Given the description of an element on the screen output the (x, y) to click on. 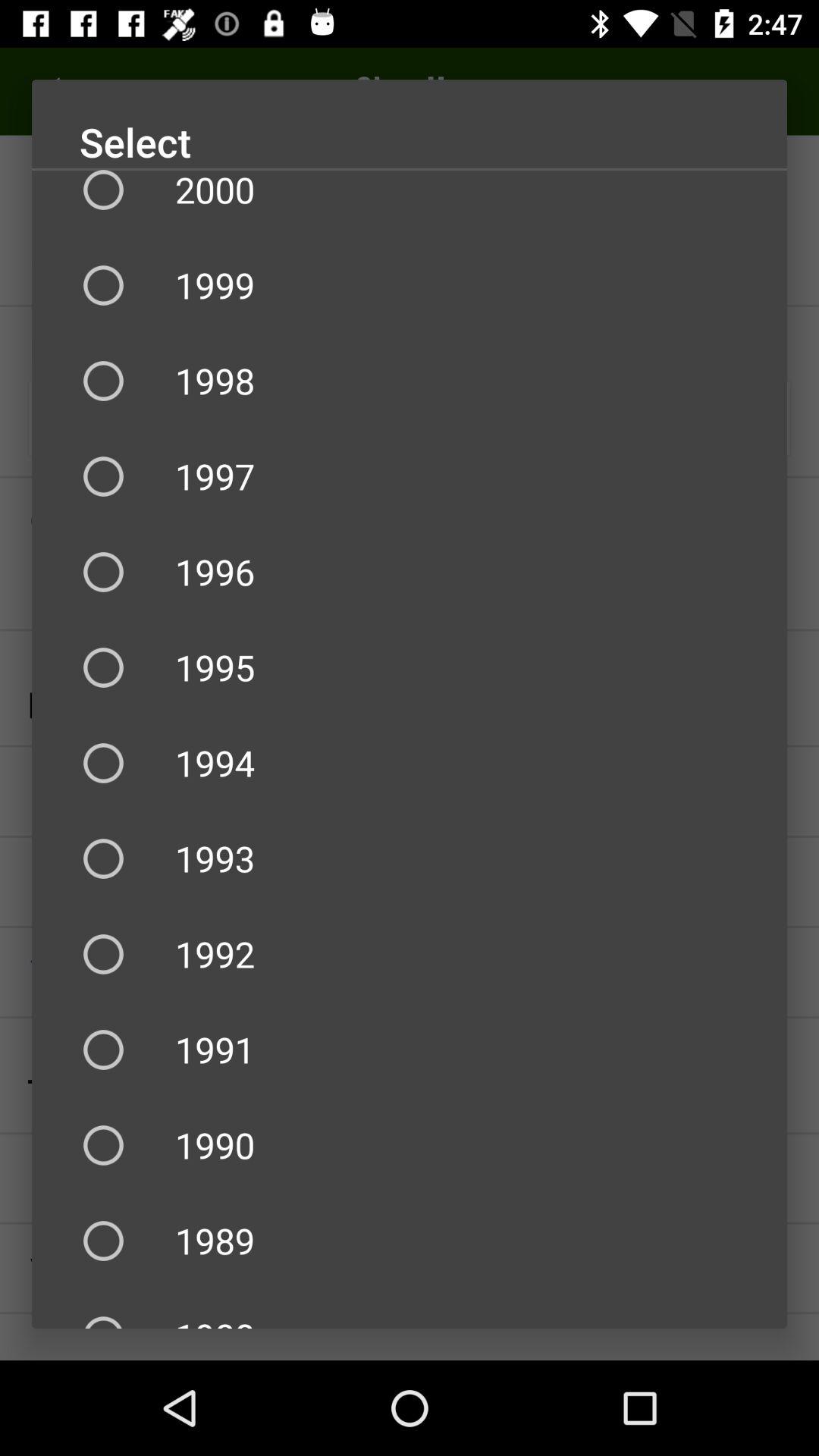
press icon below the 1995 icon (409, 763)
